Given the description of an element on the screen output the (x, y) to click on. 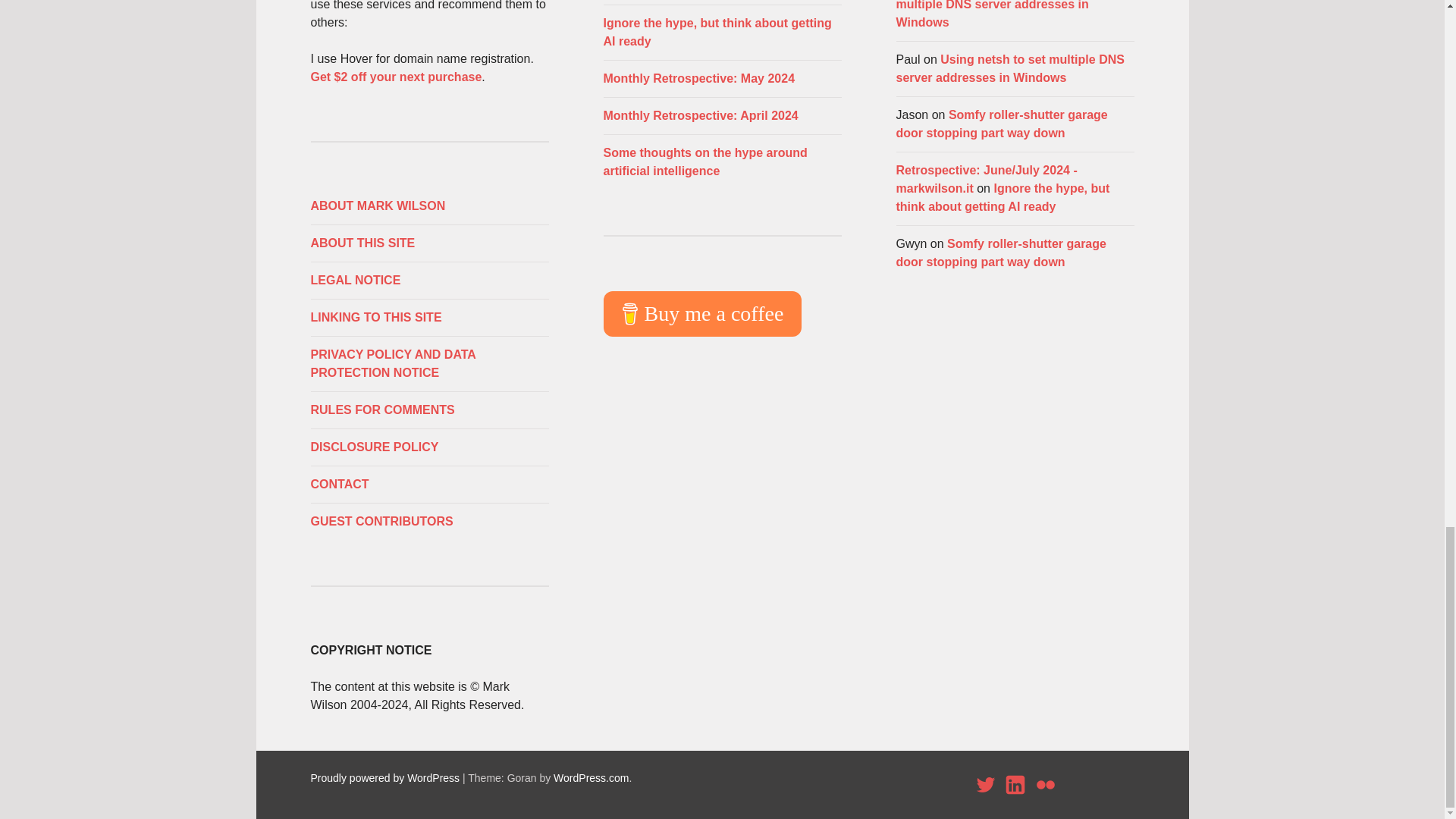
LEGAL NOTICE (429, 280)
ABOUT THIS SITE (429, 243)
PRIVACY POLICY AND DATA PROTECTION NOTICE (429, 363)
RULES FOR COMMENTS (429, 410)
LINKING TO THIS SITE (429, 317)
ABOUT MARK WILSON (429, 206)
DISCLOSURE POLICY (429, 447)
